Given the description of an element on the screen output the (x, y) to click on. 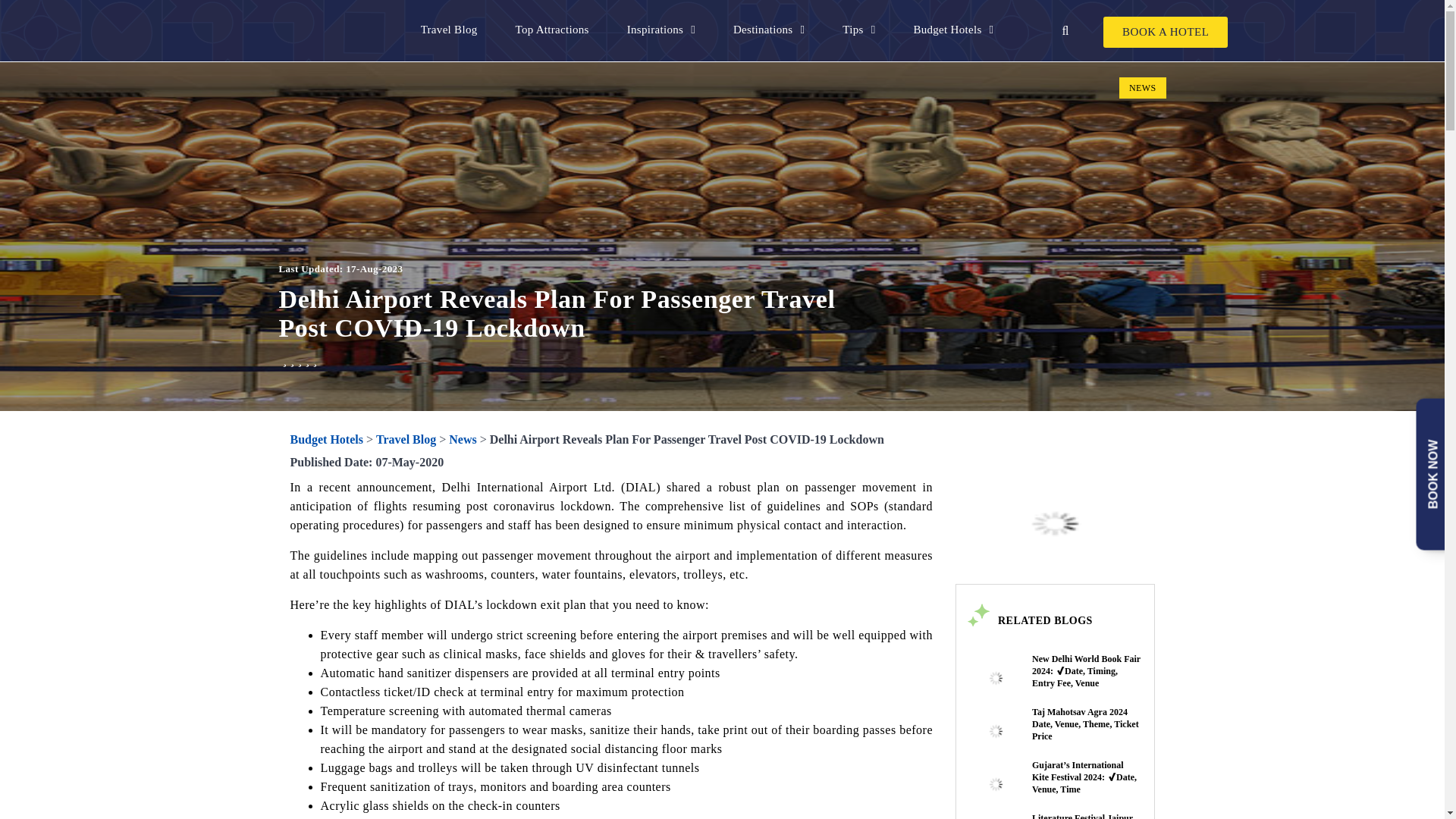
Travel Blog (448, 29)
Tips (858, 29)
Budget Hotels (952, 29)
Inspirations (660, 29)
Destinations (768, 29)
Top Attractions (551, 29)
